Given the description of an element on the screen output the (x, y) to click on. 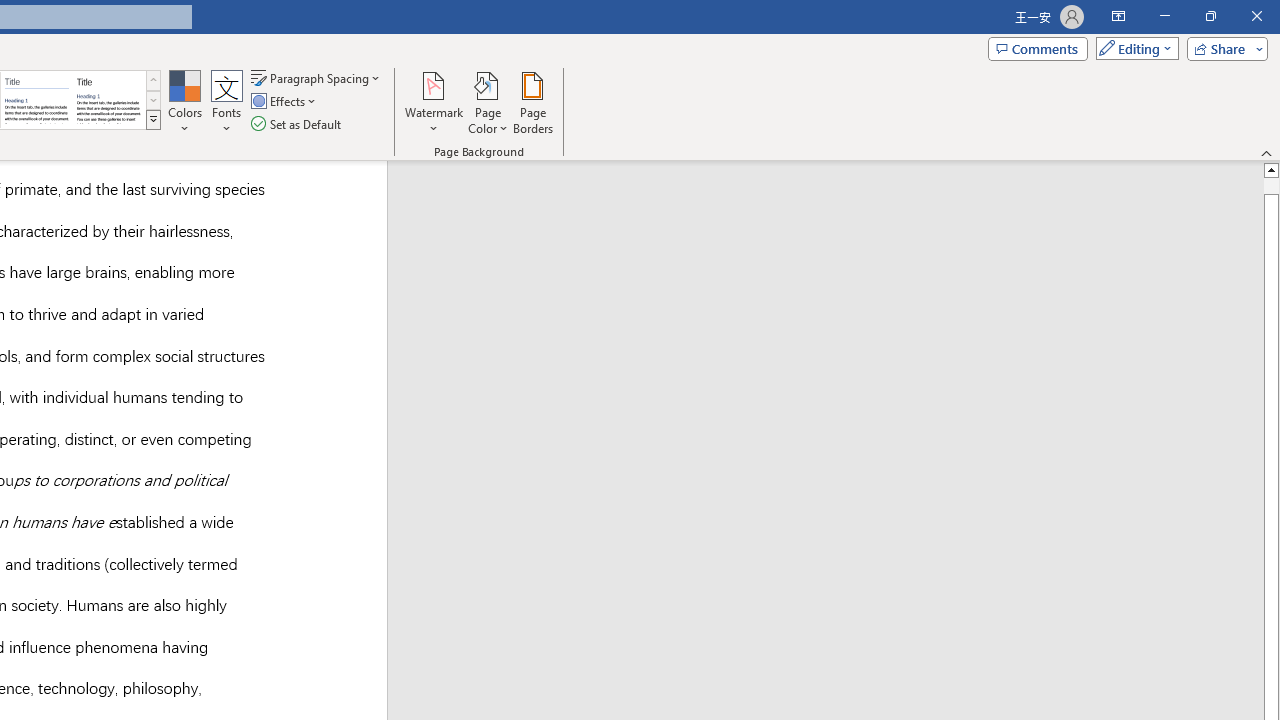
Page up (1271, 185)
Set as Default (298, 124)
Effects (285, 101)
Style Set (153, 120)
Fonts (227, 102)
Paragraph Spacing (317, 78)
